Given the description of an element on the screen output the (x, y) to click on. 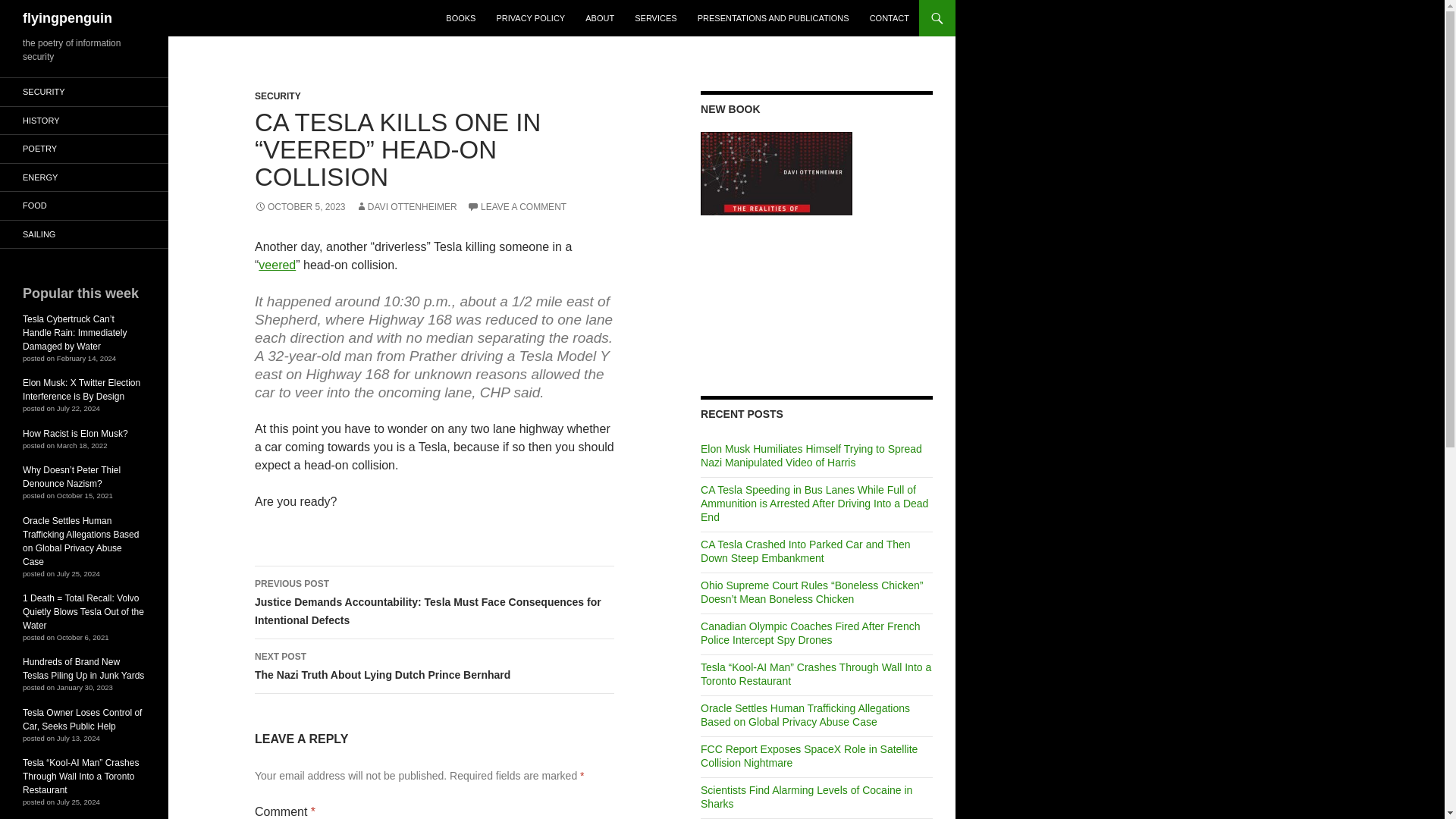
DAVI OTTENHEIMER (406, 206)
veered (277, 264)
LEAVE A COMMENT (516, 206)
CONTACT (889, 18)
ABOUT (599, 18)
OCTOBER 5, 2023 (300, 206)
PRIVACY POLICY (529, 18)
BOOKS (460, 18)
SECURITY (277, 95)
PRESENTATIONS AND PUBLICATIONS (773, 18)
SERVICES (655, 18)
